Given the description of an element on the screen output the (x, y) to click on. 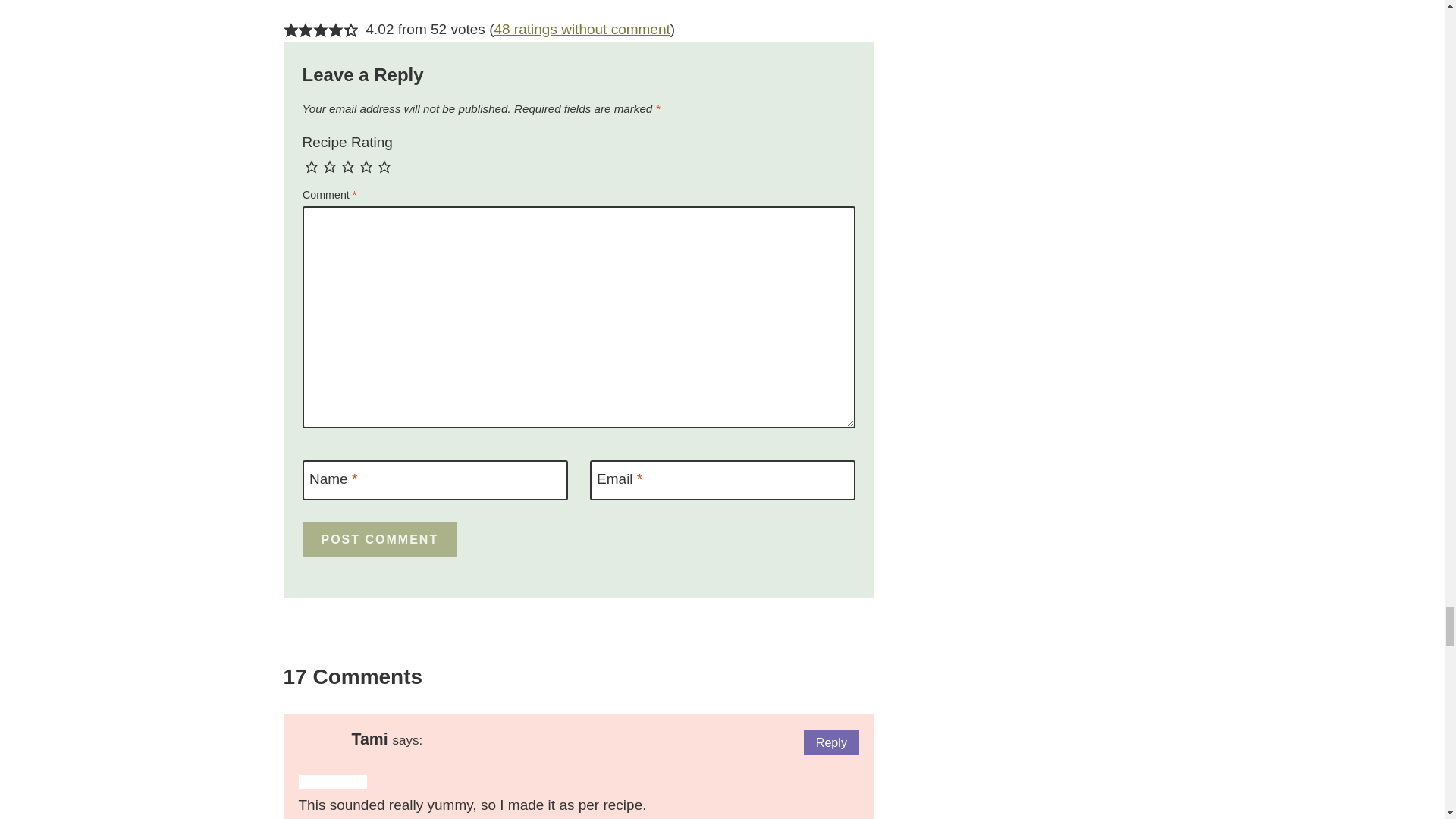
Post Comment (379, 539)
